Given the description of an element on the screen output the (x, y) to click on. 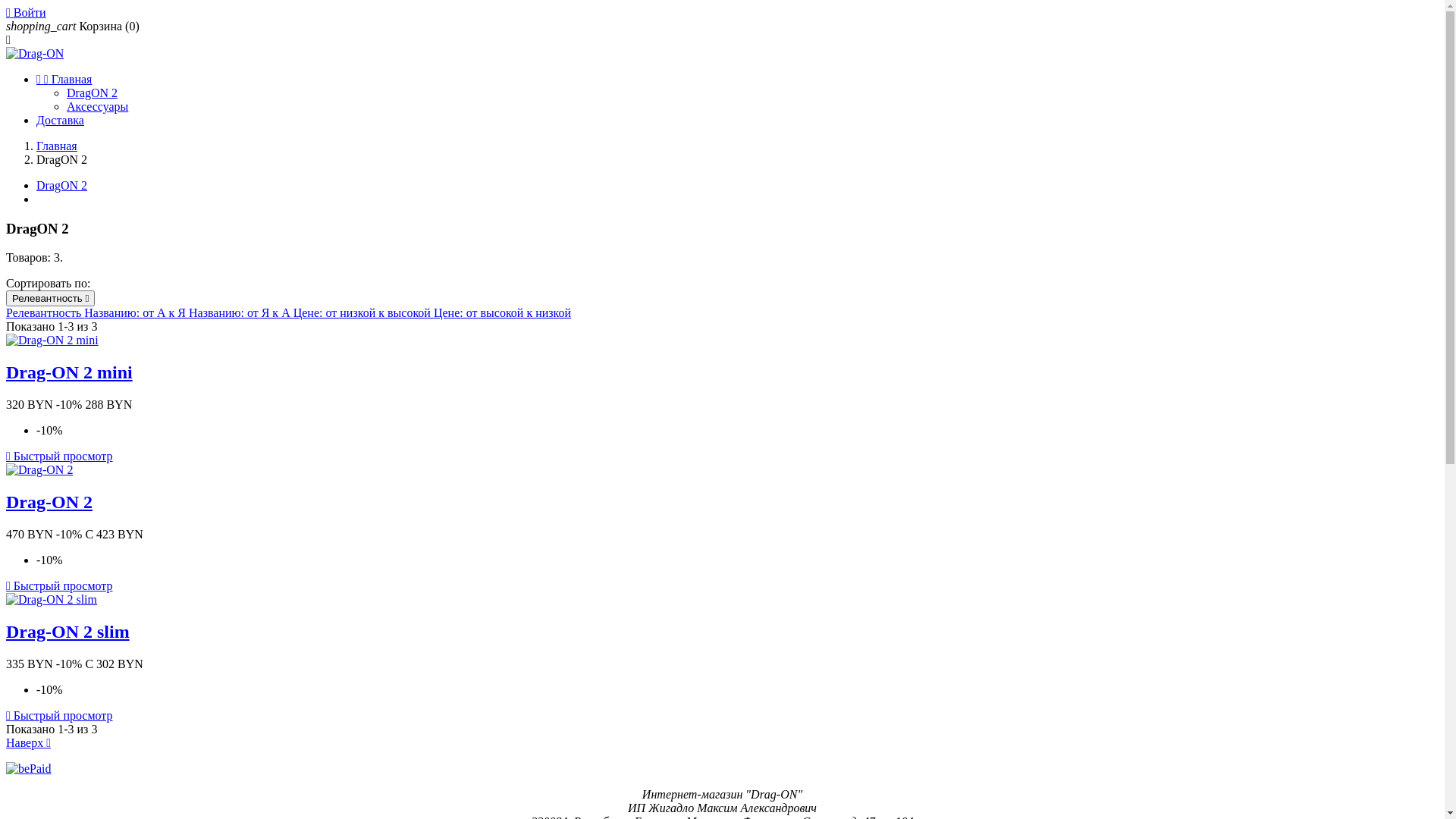
Drag-ON 2 slim Element type: text (67, 631)
DragON 2 Element type: text (91, 92)
DragON 2 Element type: text (61, 184)
Drag-ON 2 mini Element type: text (69, 372)
Drag-ON 2 Element type: text (49, 501)
